Given the description of an element on the screen output the (x, y) to click on. 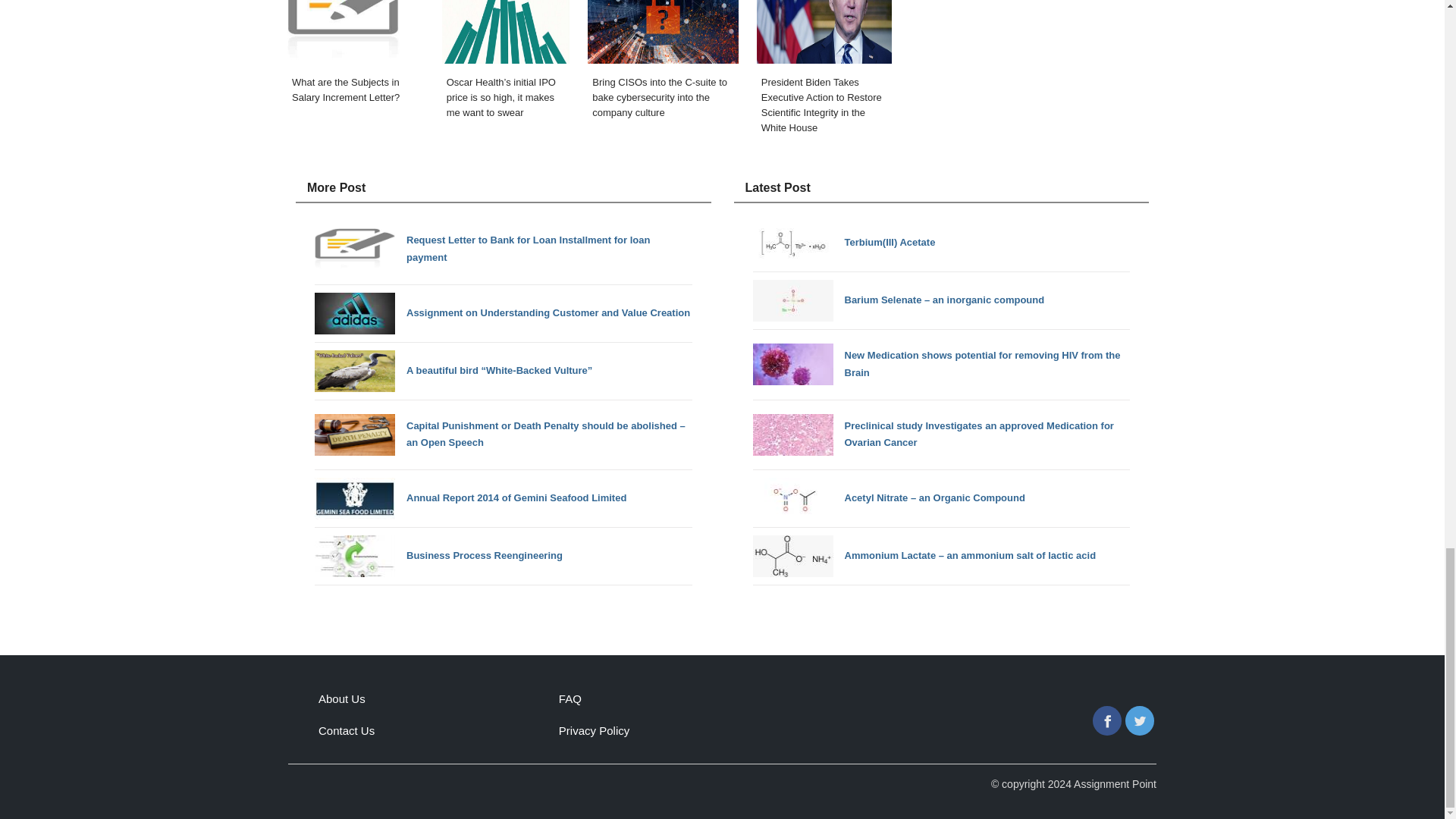
About Us (341, 698)
Request Letter to Bank for Loan Installment for loan payment (503, 248)
What are the Subjects in Salary Increment Letter? (354, 72)
Assignment on Understanding Customer and Value Creation (502, 313)
Business Process Reengineering (438, 556)
Annual Report 2014 of Gemini Seafood Limited (470, 498)
